Given the description of an element on the screen output the (x, y) to click on. 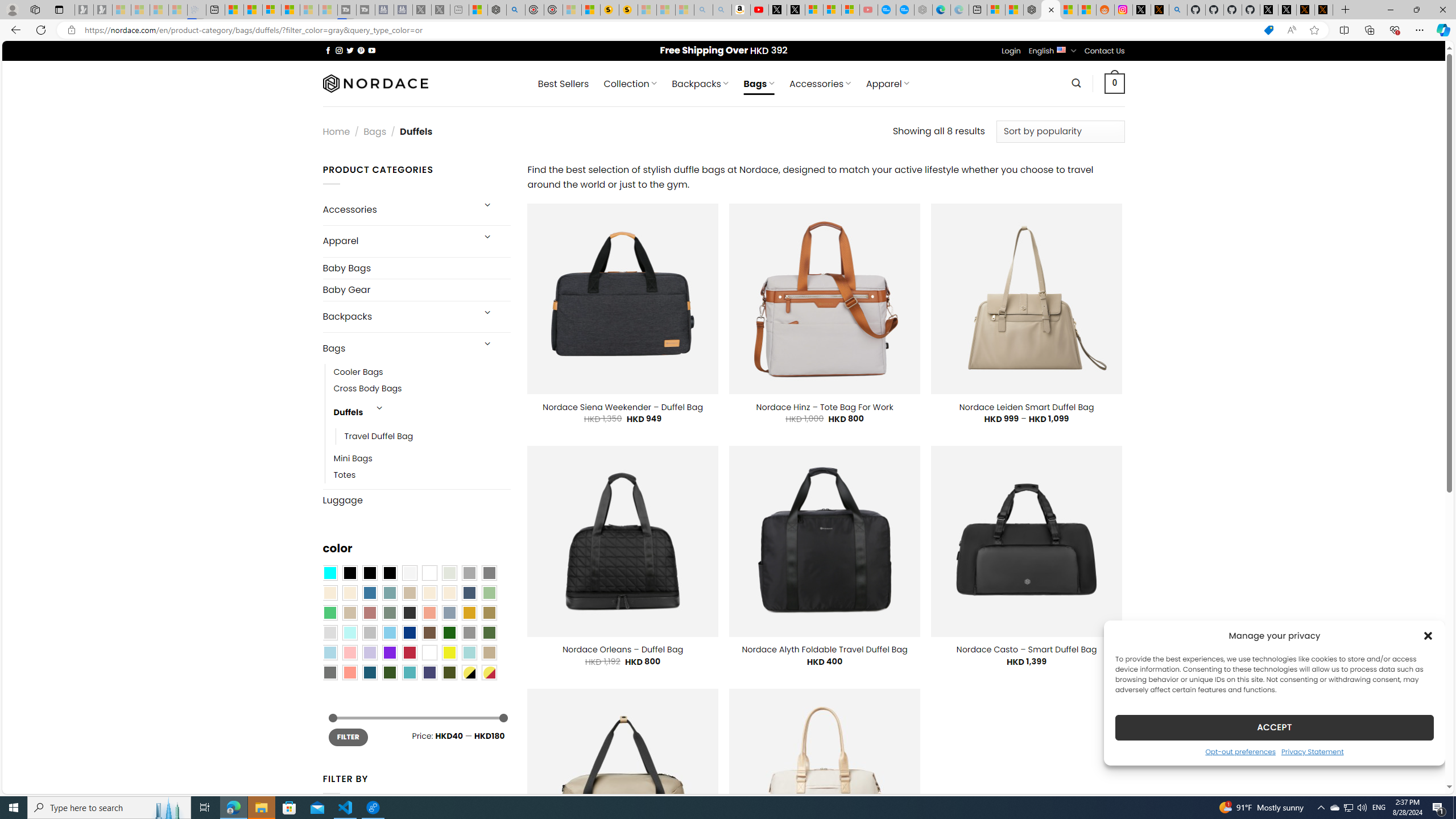
Nordace Alyth Foldable Travel Duffel Bag (824, 649)
The most popular Google 'how to' searches (904, 9)
Mini Bags (352, 458)
Nordace Leiden Smart Duffel Bag (1026, 406)
Overview (271, 9)
Amazon Echo Dot PNG - Search Images - Sleeping (721, 9)
Class: cmplz-close (1428, 635)
  0   (1115, 83)
Baby Gear (416, 289)
Light Purple (369, 652)
Aqua Blue (329, 572)
poe - Search (515, 9)
